Given the description of an element on the screen output the (x, y) to click on. 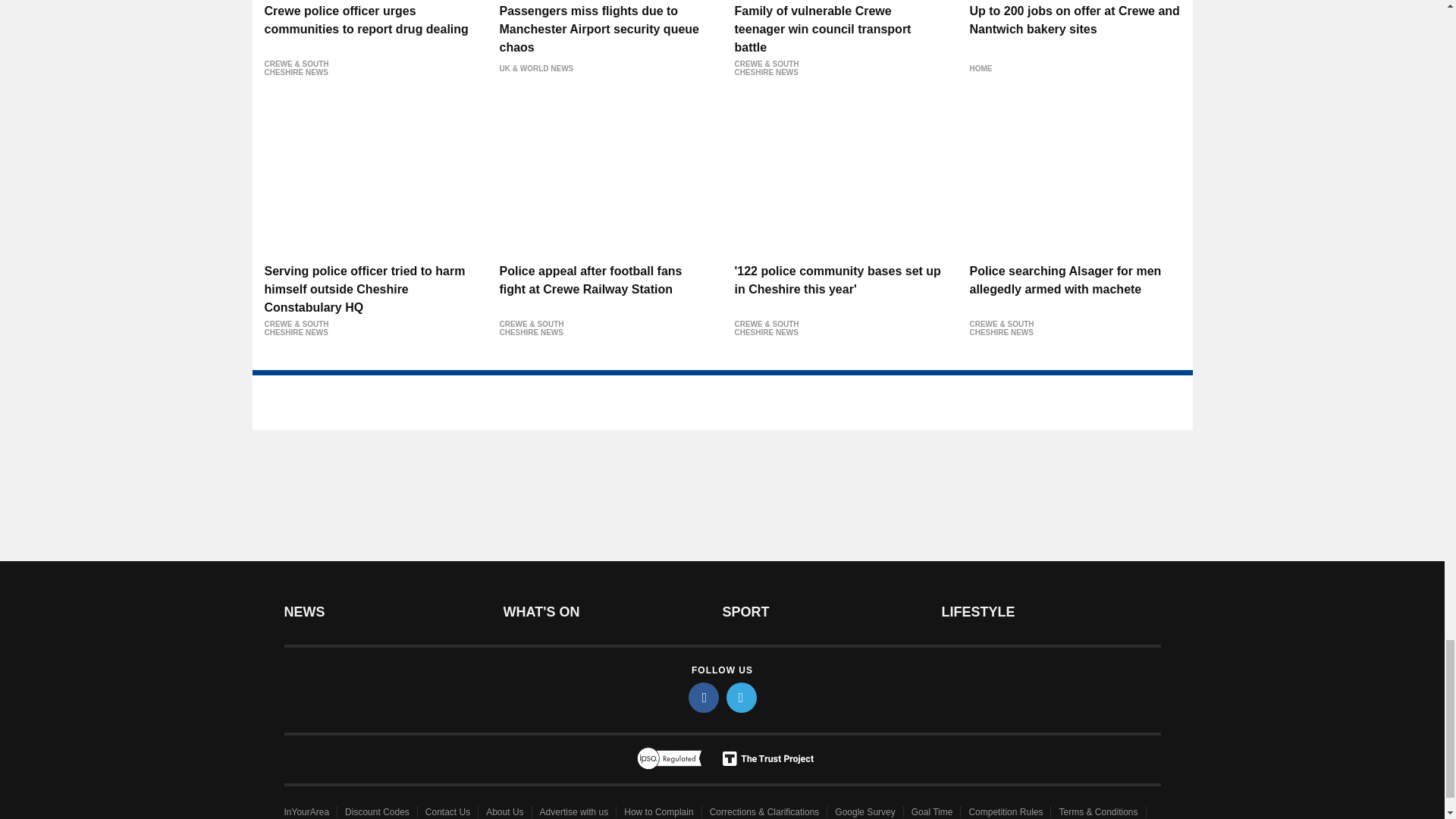
facebook (703, 697)
twitter (741, 697)
